Given the description of an element on the screen output the (x, y) to click on. 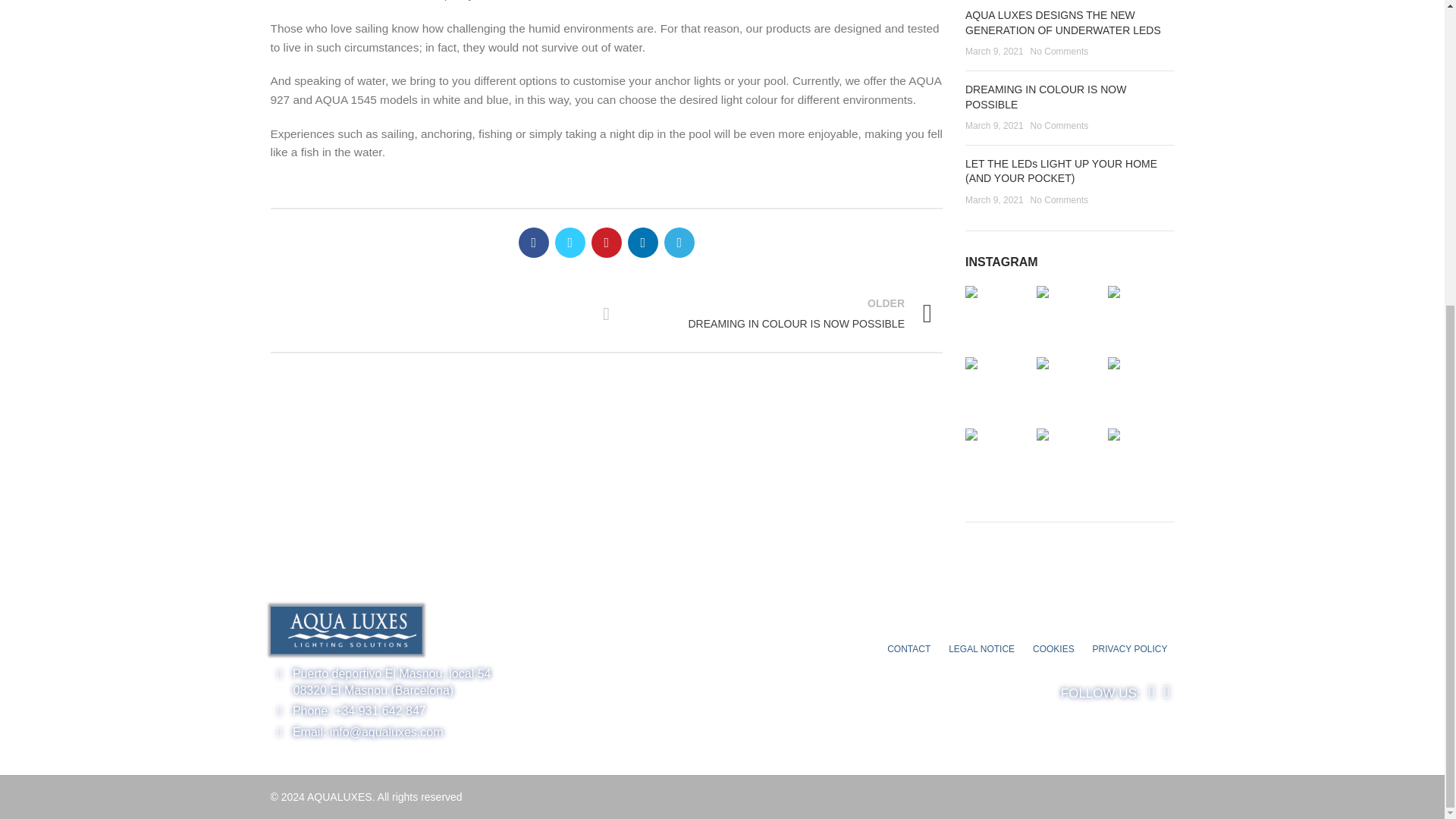
No Comments (1059, 125)
Telegram (678, 242)
DREAMING IN COLOUR IS NOW POSSIBLE (1045, 96)
No Comments (1059, 50)
AQUA LUXES DESIGNS THE NEW GENERATION OF UNDERWATER LEDS (1062, 22)
Twitter (569, 242)
Facebook (533, 242)
Back to list (779, 313)
Permalink to DREAMING IN COLOUR IS NOW POSSIBLE (606, 313)
